Given the description of an element on the screen output the (x, y) to click on. 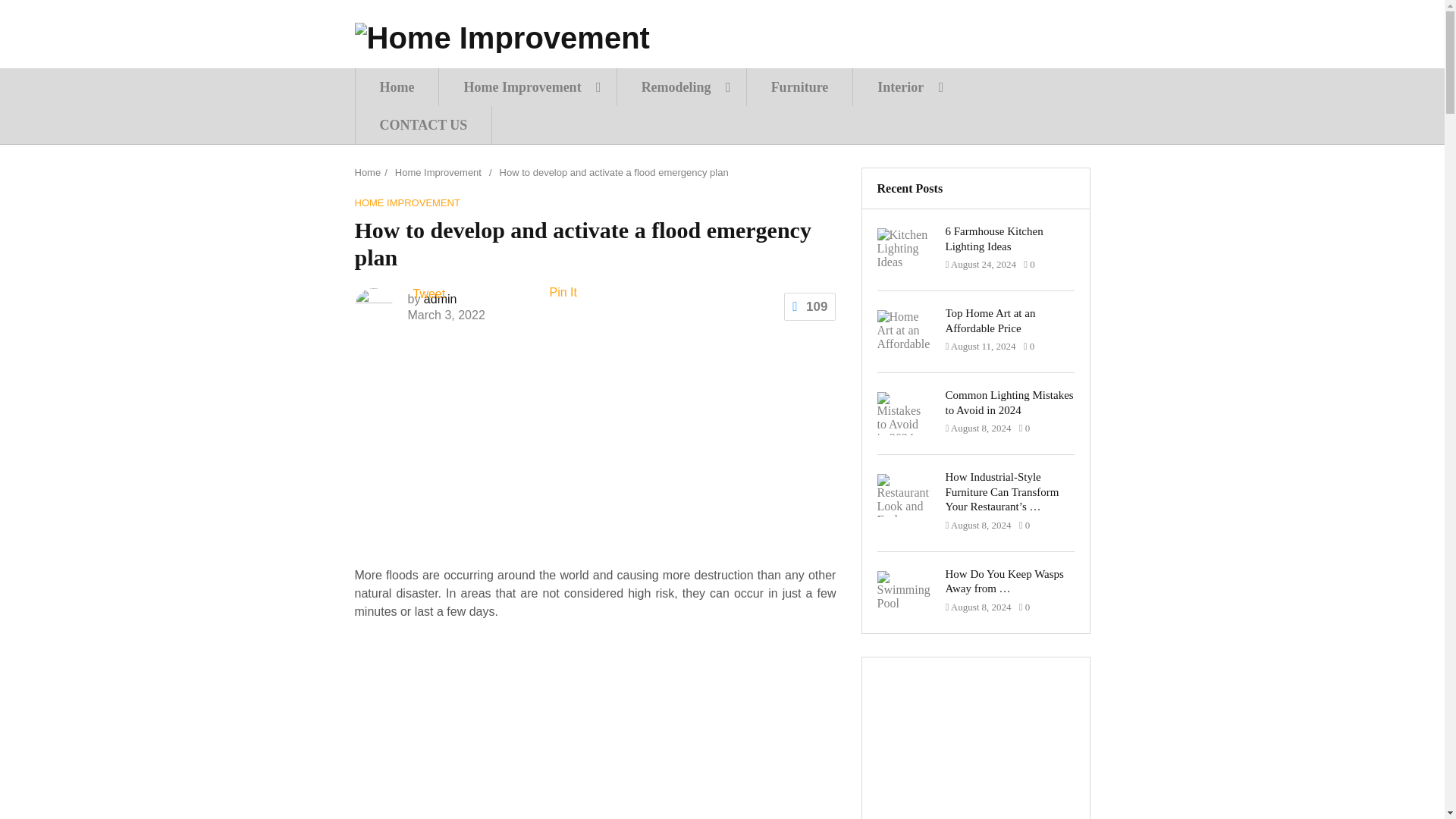
HOME IMPROVEMENT (407, 202)
Home (368, 172)
Interior (904, 86)
Top Home Art at an Affordable Price (1009, 320)
Furniture (799, 86)
admin (440, 298)
6 Farmhouse Kitchen Lighting Ideas (1009, 238)
View all posts in Home Improvement (407, 202)
Home (397, 86)
Remodeling (680, 86)
